Given the description of an element on the screen output the (x, y) to click on. 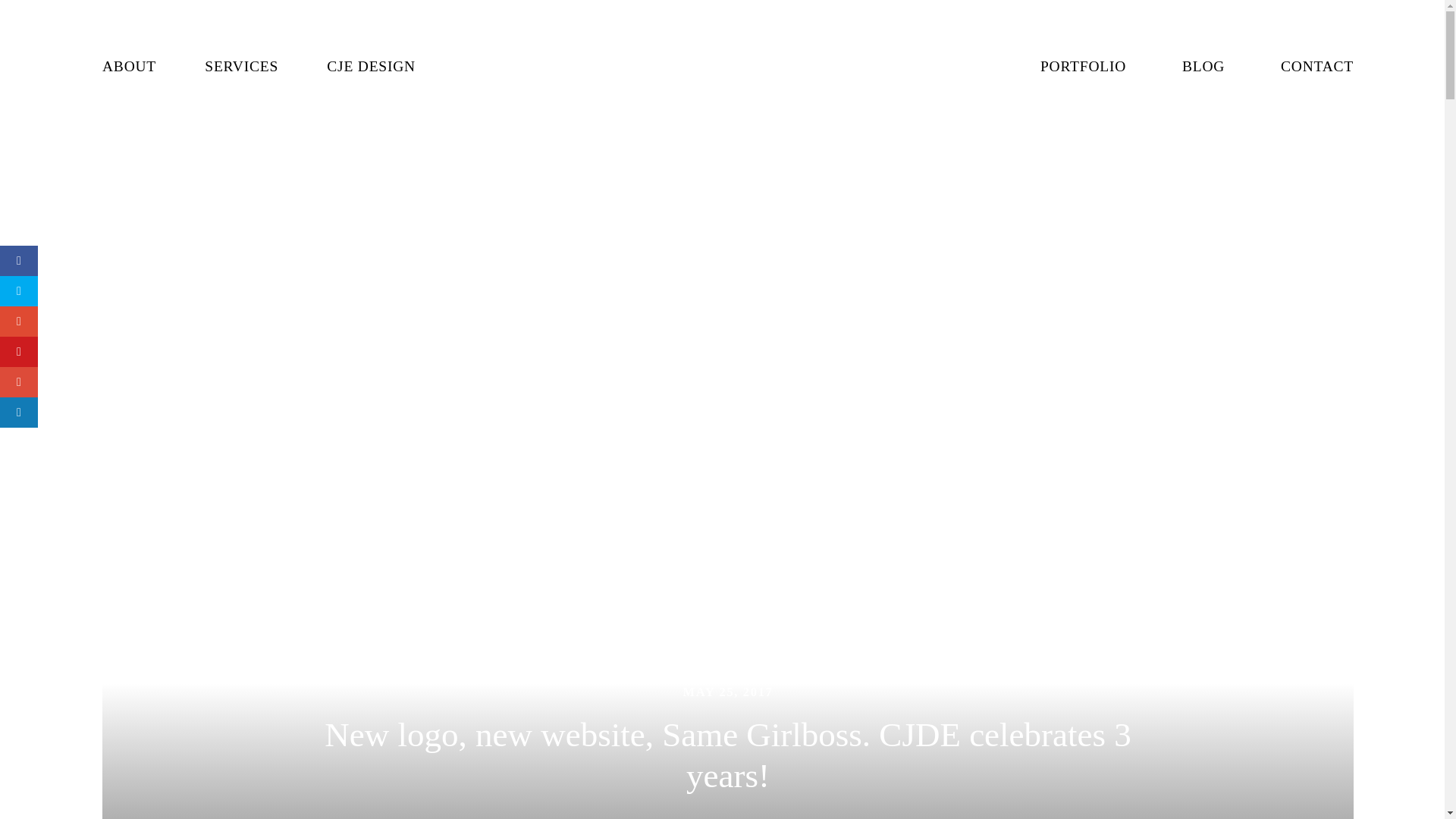
CONTACT (1317, 66)
CJE DESIGN (370, 66)
SERVICES (241, 66)
ABOUT (128, 66)
BLOG (1203, 66)
PORTFOLIO (1083, 66)
